Given the description of an element on the screen output the (x, y) to click on. 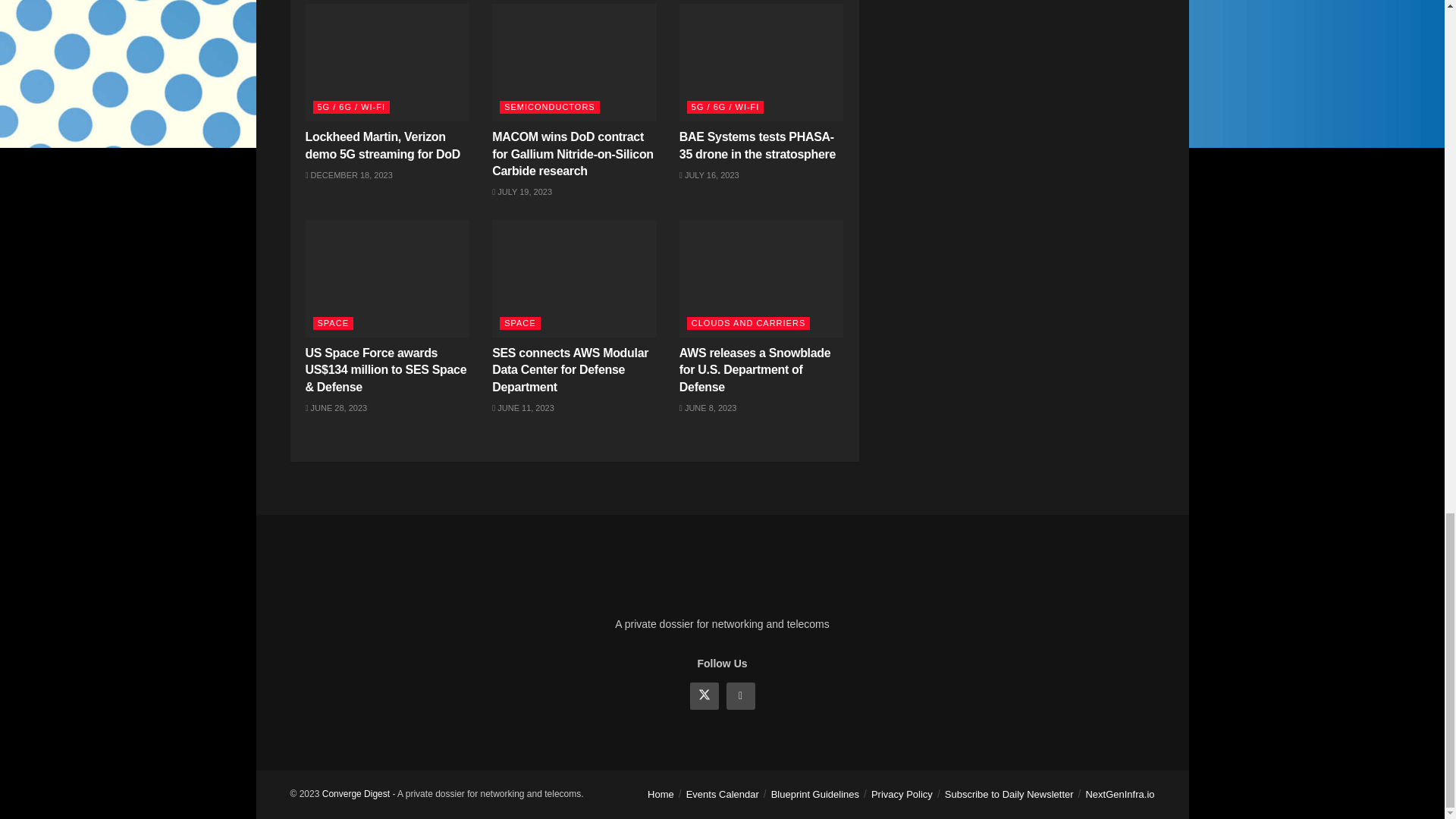
Converge Digest (355, 793)
